Given the description of an element on the screen output the (x, y) to click on. 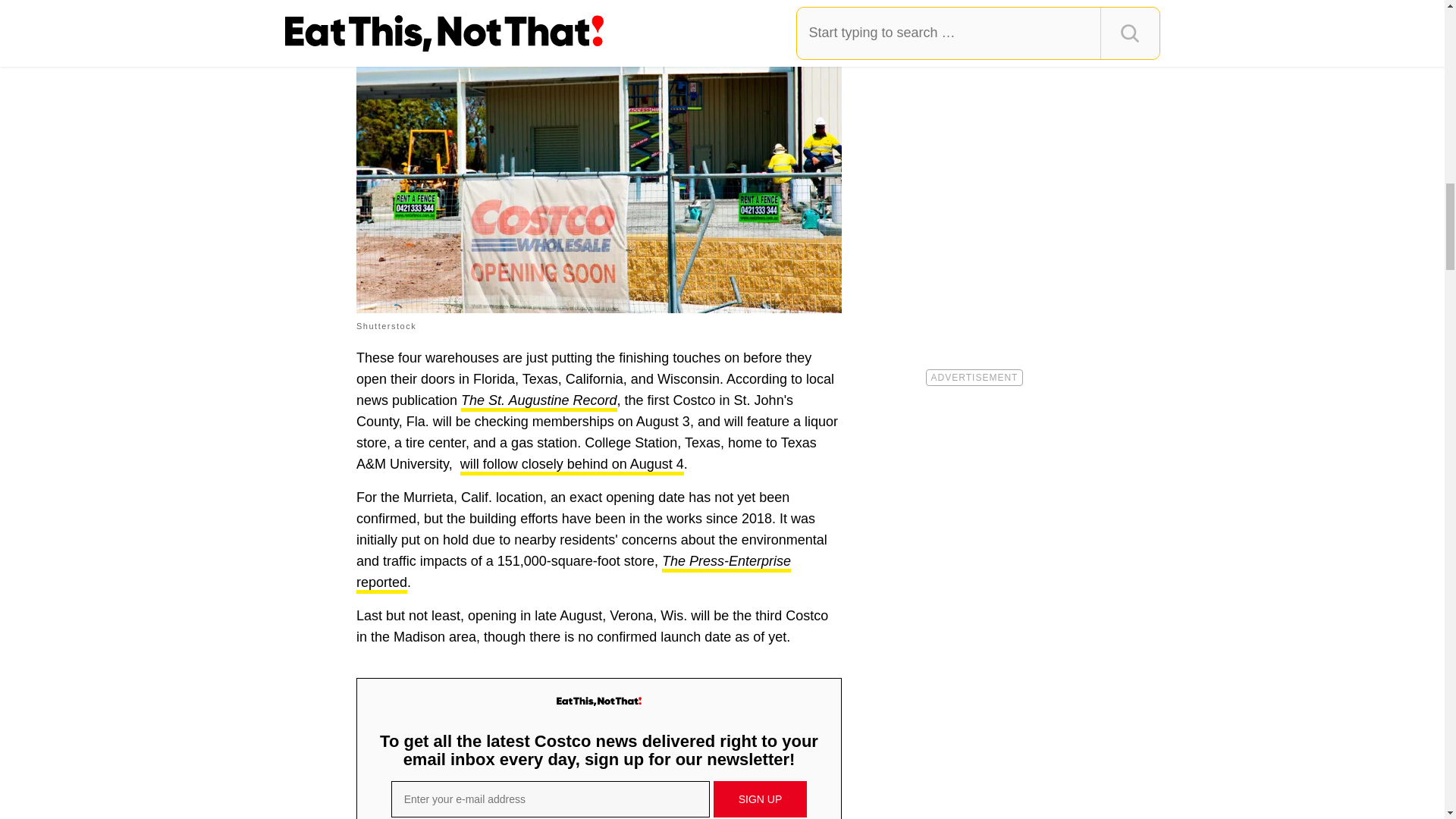
Sign Up (760, 799)
Eat This Not That (599, 701)
